Given the description of an element on the screen output the (x, y) to click on. 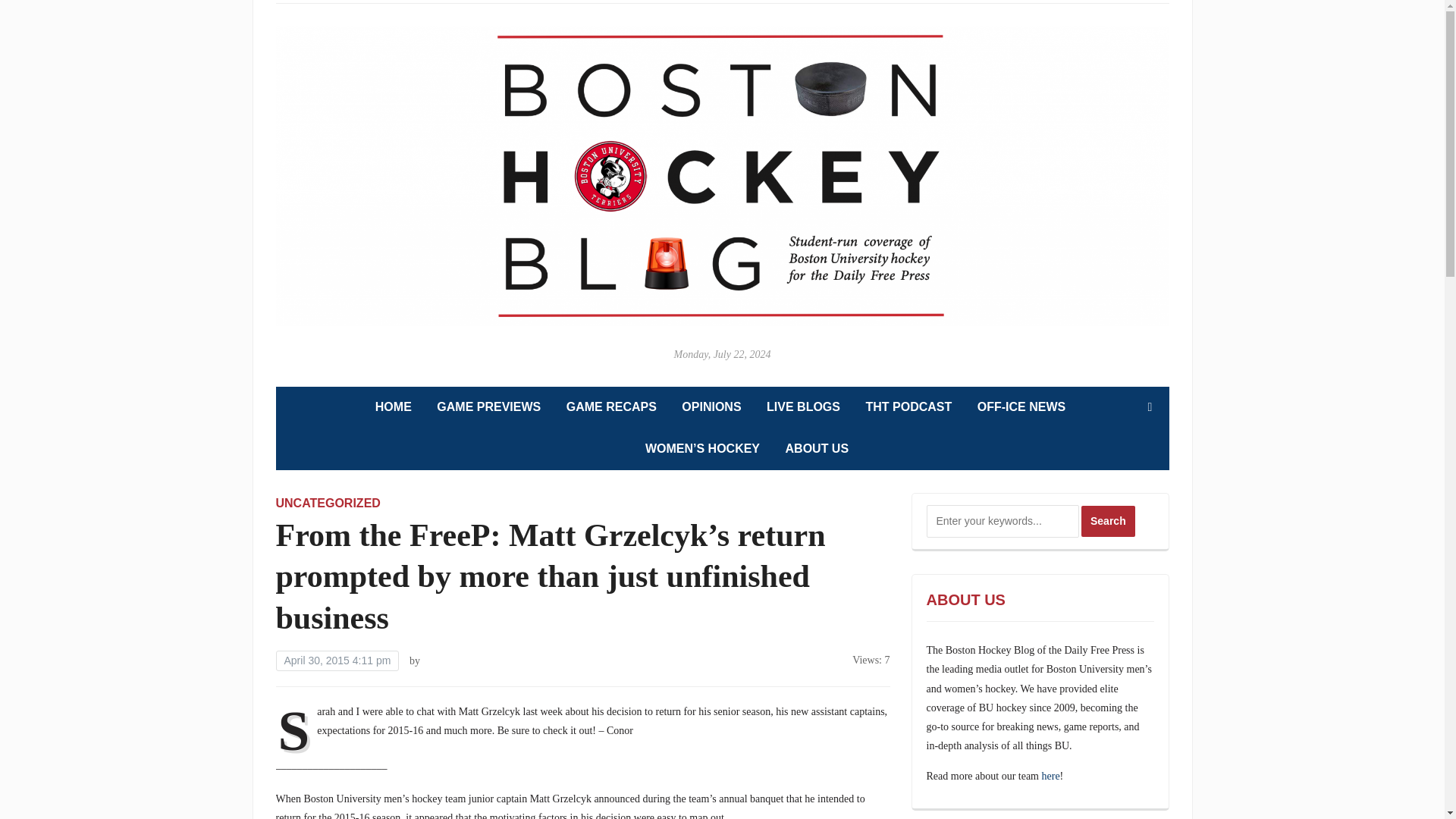
THT PODCAST (908, 407)
Search (1108, 521)
here (1050, 776)
GAME RECAPS (611, 407)
LIVE BLOGS (803, 407)
Search (1149, 407)
OFF-ICE NEWS (1020, 407)
OPINIONS (711, 407)
Search (1108, 521)
GAME PREVIEWS (488, 407)
HOME (393, 407)
ABOUT US (817, 449)
Search (1108, 521)
UNCATEGORIZED (328, 502)
